Given the description of an element on the screen output the (x, y) to click on. 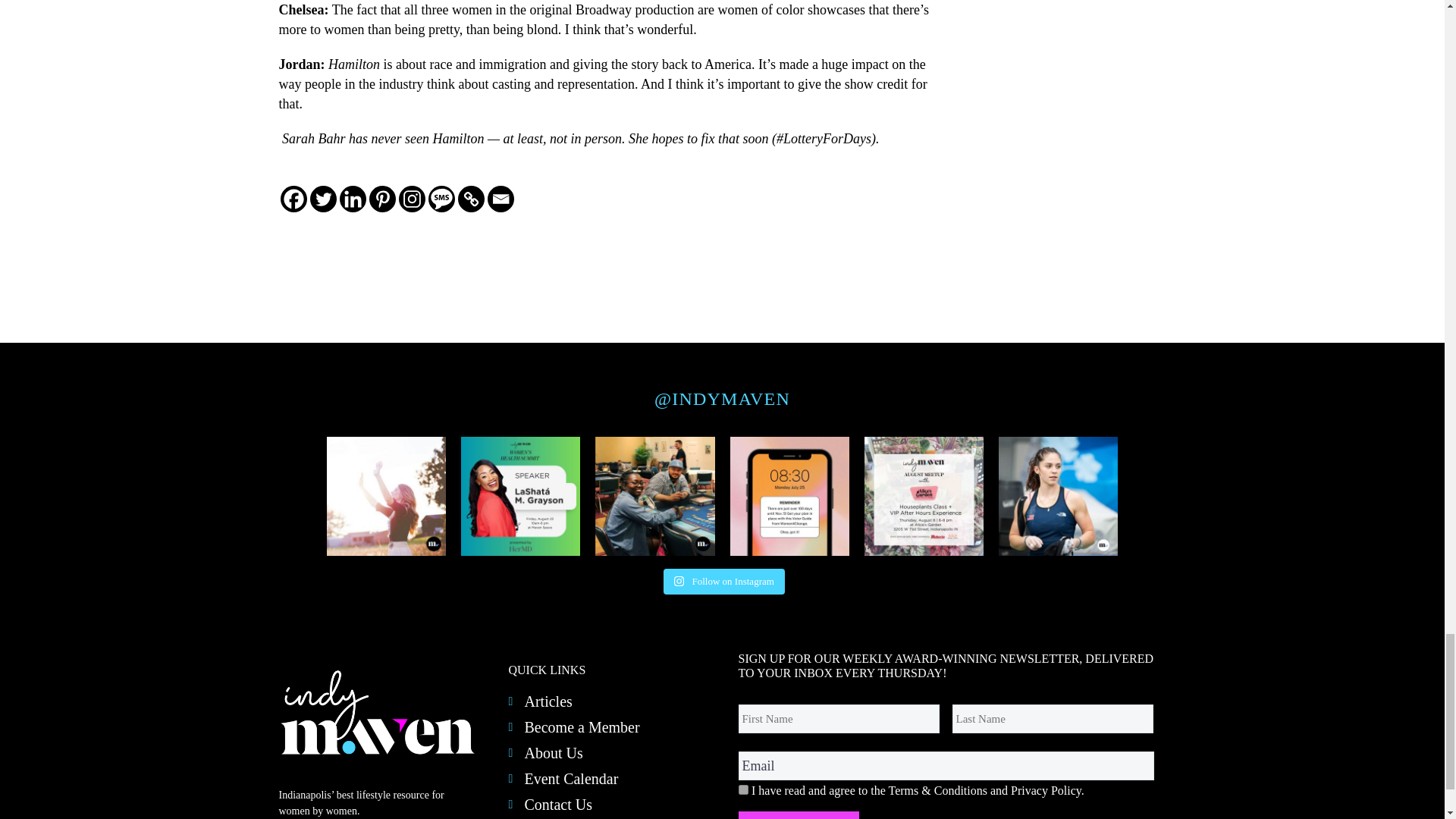
Twitter (322, 198)
Facebook (294, 198)
SUBSCRIBE (798, 815)
Email (946, 765)
1 (743, 789)
